Given the description of an element on the screen output the (x, y) to click on. 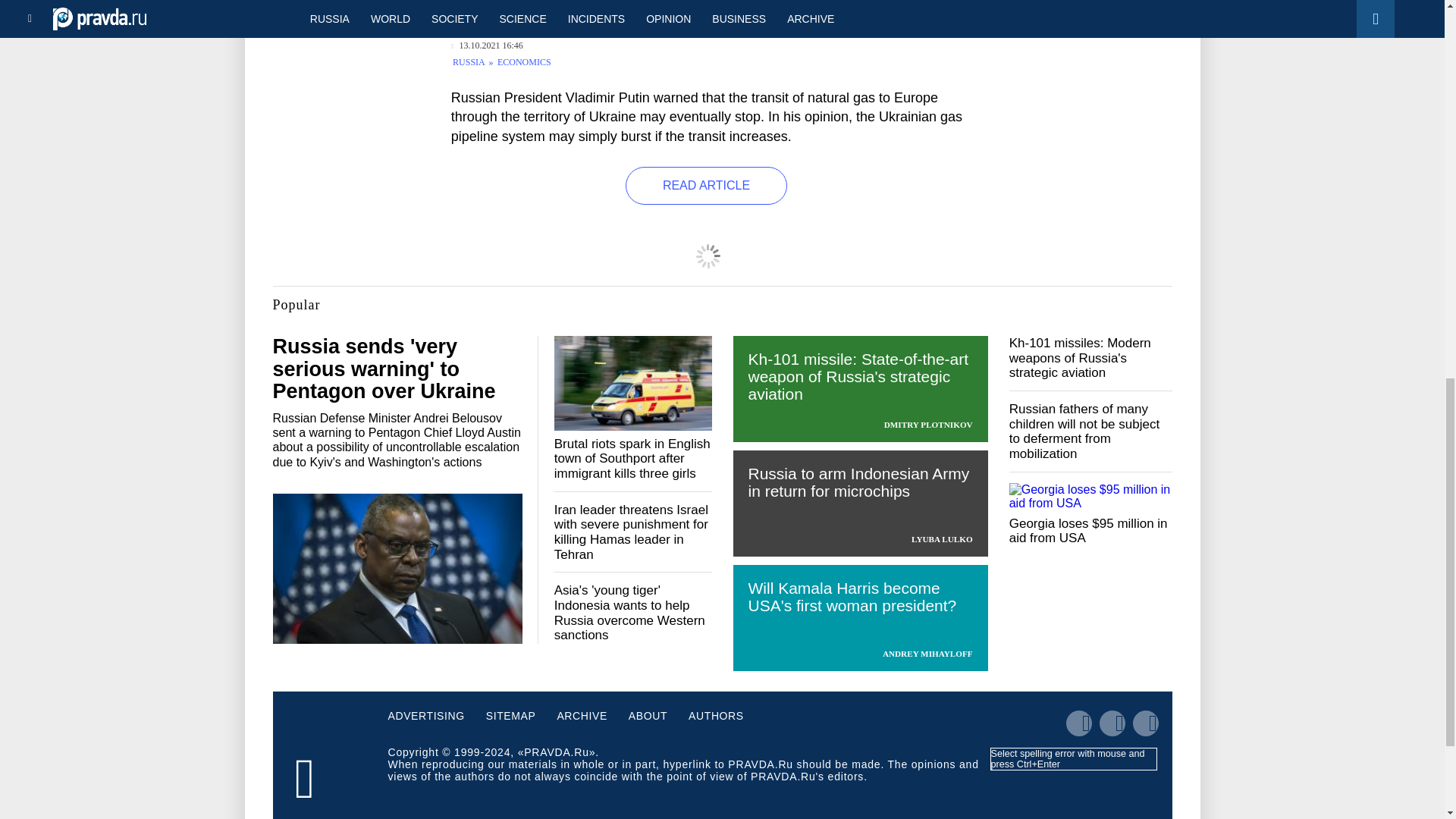
Published (486, 45)
Back to top (1418, 79)
